Given the description of an element on the screen output the (x, y) to click on. 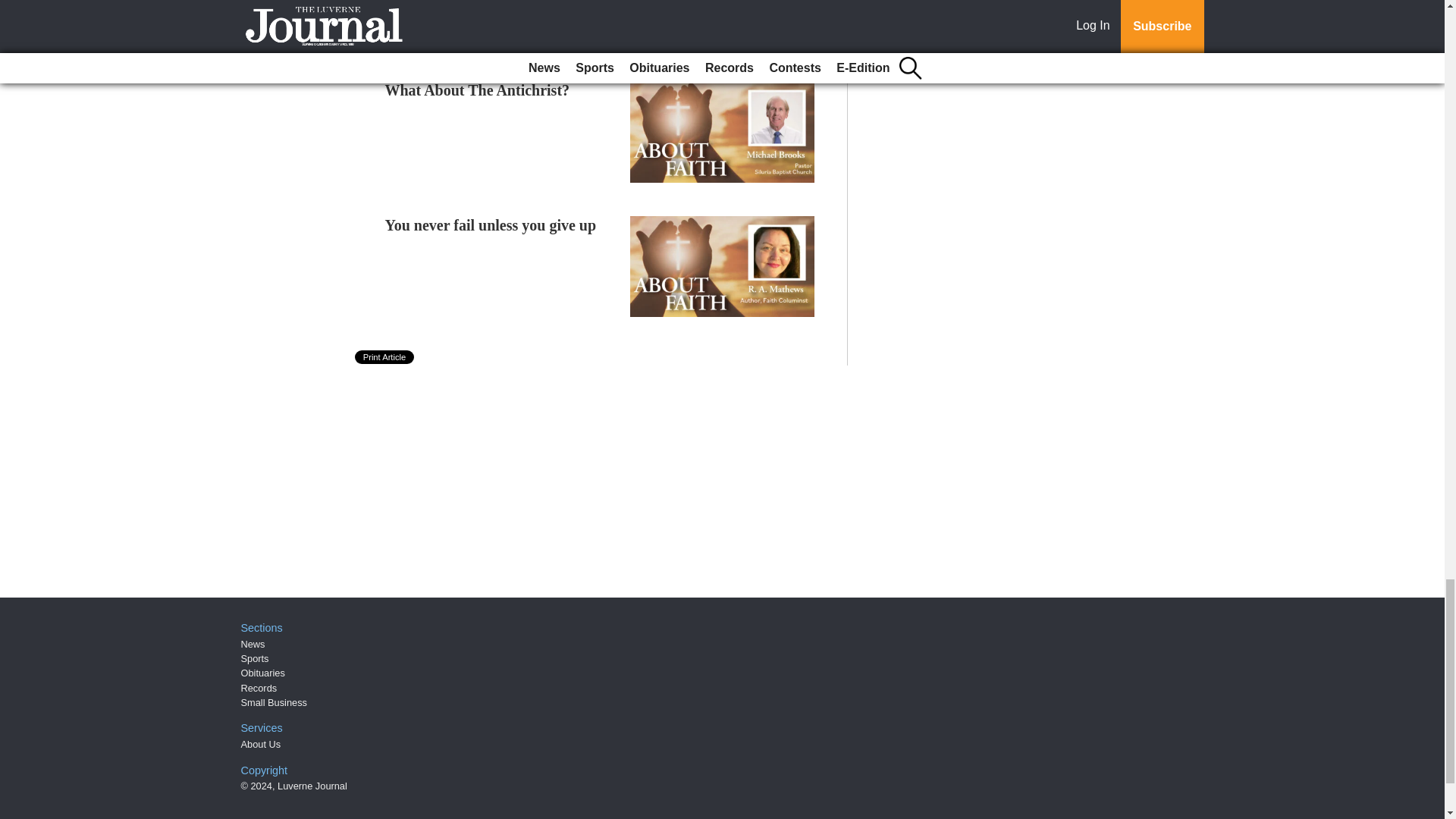
News (252, 644)
About Us (261, 744)
Small Business (274, 702)
Sports (255, 658)
What About The Antichrist? (477, 89)
Print Article (384, 356)
You never fail unless you give up (490, 225)
Records (259, 687)
Obituaries (263, 672)
What About The Antichrist? (477, 89)
You never fail unless you give up (490, 225)
